Given the description of an element on the screen output the (x, y) to click on. 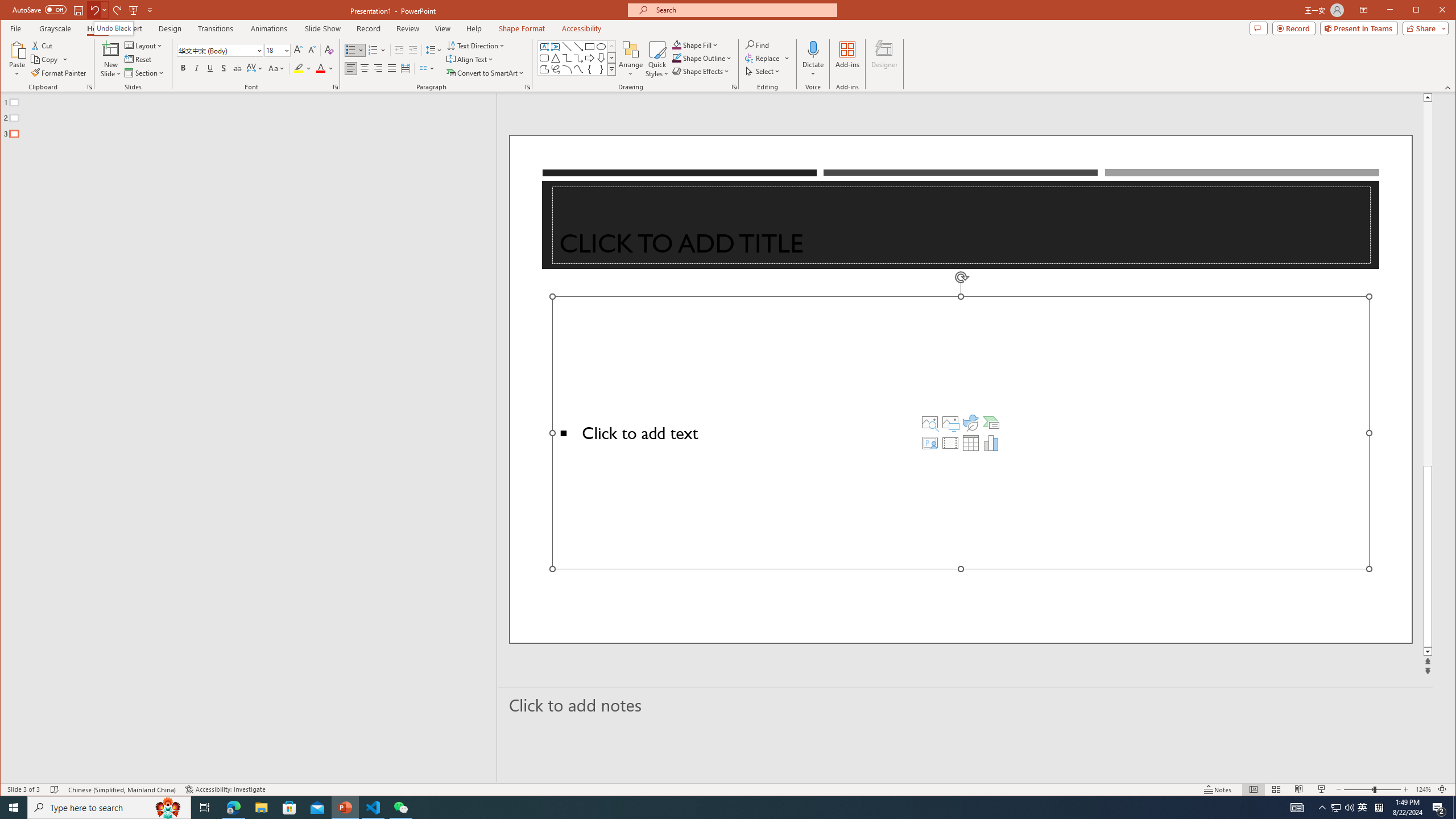
AutomationID: 4105 (1297, 807)
Designer (884, 59)
Insert Table (970, 443)
Center (364, 68)
Dictate (812, 59)
Title TextBox (960, 224)
Arrow: Down (601, 57)
Left Brace (589, 69)
Content Placeholder (960, 432)
